Given the description of an element on the screen output the (x, y) to click on. 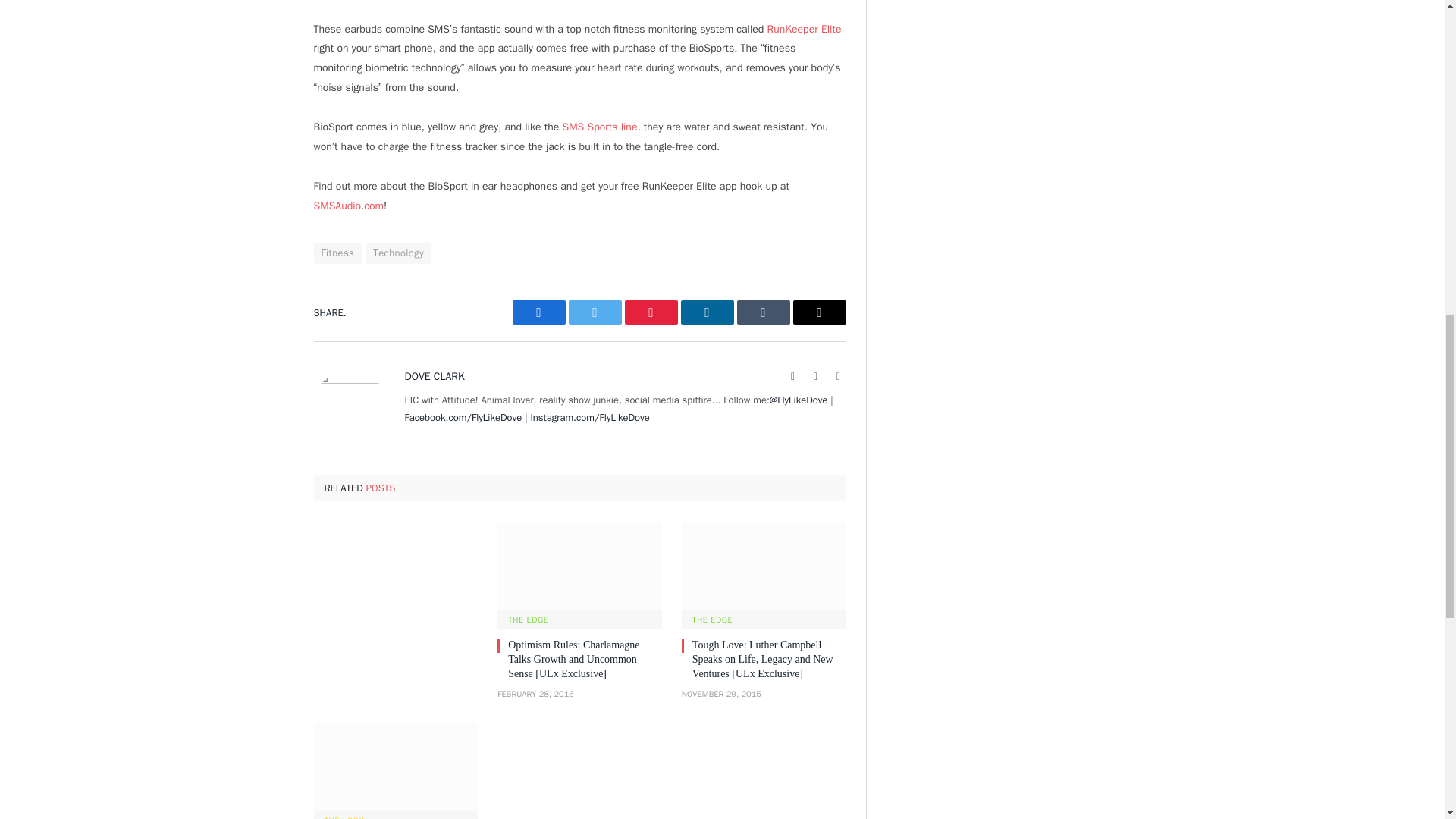
Technology (397, 252)
Tumblr (763, 312)
Share on Twitter (595, 312)
Twitter (595, 312)
Share on Pinterest (651, 312)
Fitness (338, 252)
Facebook (539, 312)
DOVE CLARK (434, 376)
Website (793, 376)
RunKeeper Elite (804, 29)
